Given the description of an element on the screen output the (x, y) to click on. 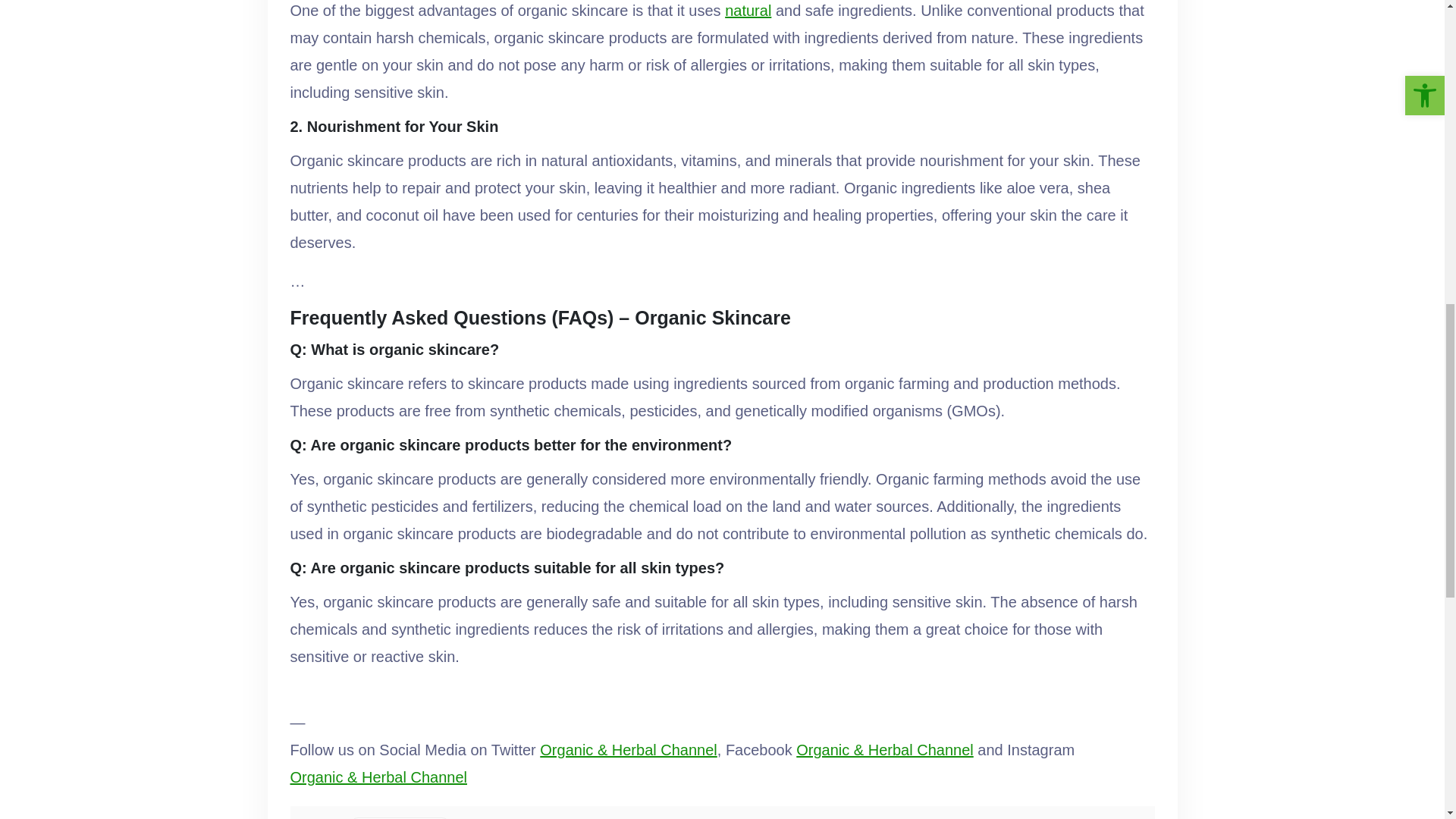
natural (748, 12)
Organic Skincare (399, 818)
natural (748, 12)
